Given the description of an element on the screen output the (x, y) to click on. 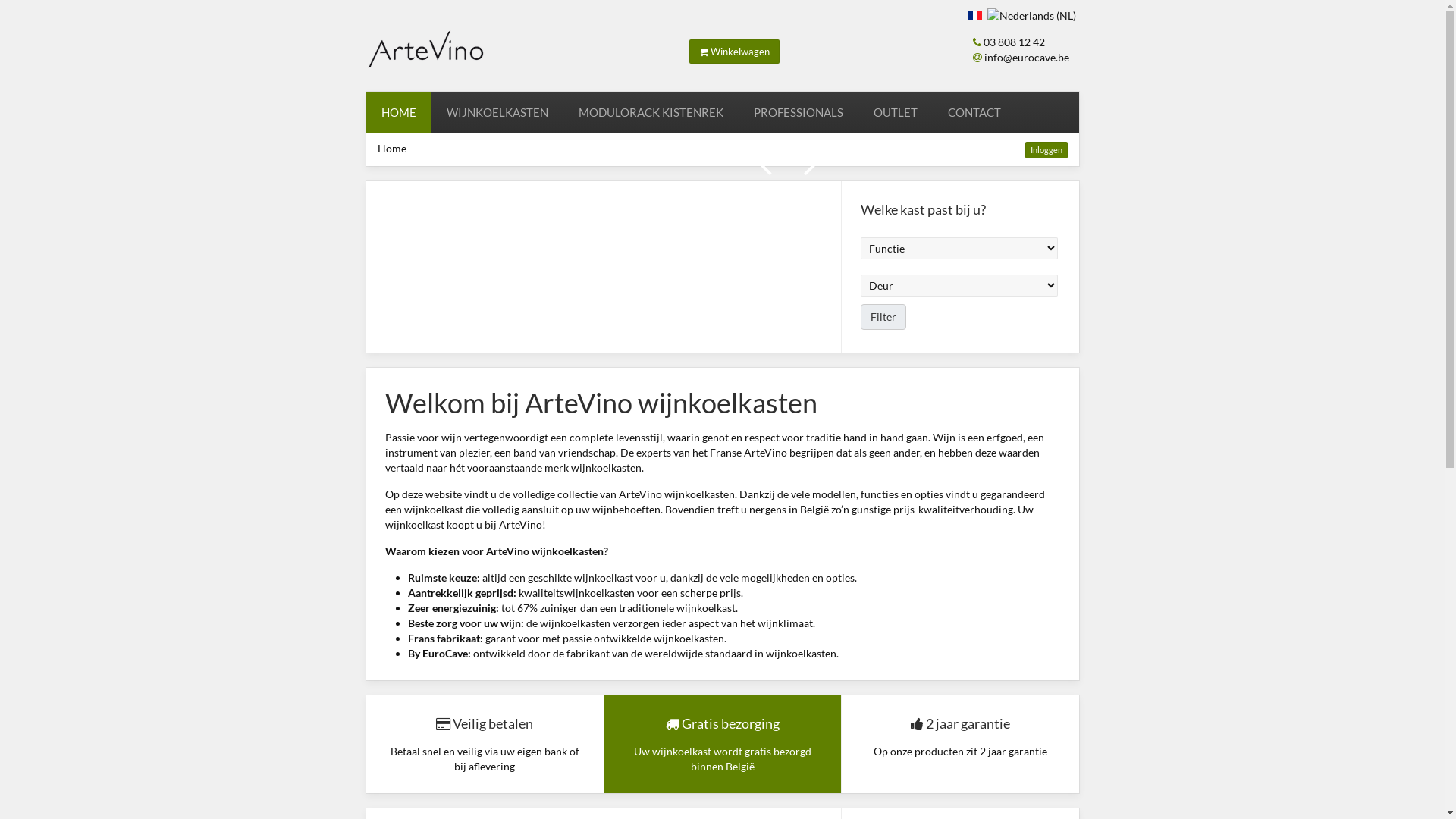
Inloggen Element type: text (1046, 149)
HOME Element type: text (397, 112)
Winkelwagen Element type: text (733, 51)
info@eurocave.be Element type: text (1026, 56)
PROFESSIONALS Element type: text (798, 112)
WIJNKOELKASTEN Element type: text (496, 112)
Nederlands (NL) Element type: hover (1031, 15)
CONTACT Element type: text (974, 112)
Filter Element type: text (883, 316)
OUTLET Element type: text (895, 112)
MODULORACK KISTENREK Element type: text (649, 112)
